Given the description of an element on the screen output the (x, y) to click on. 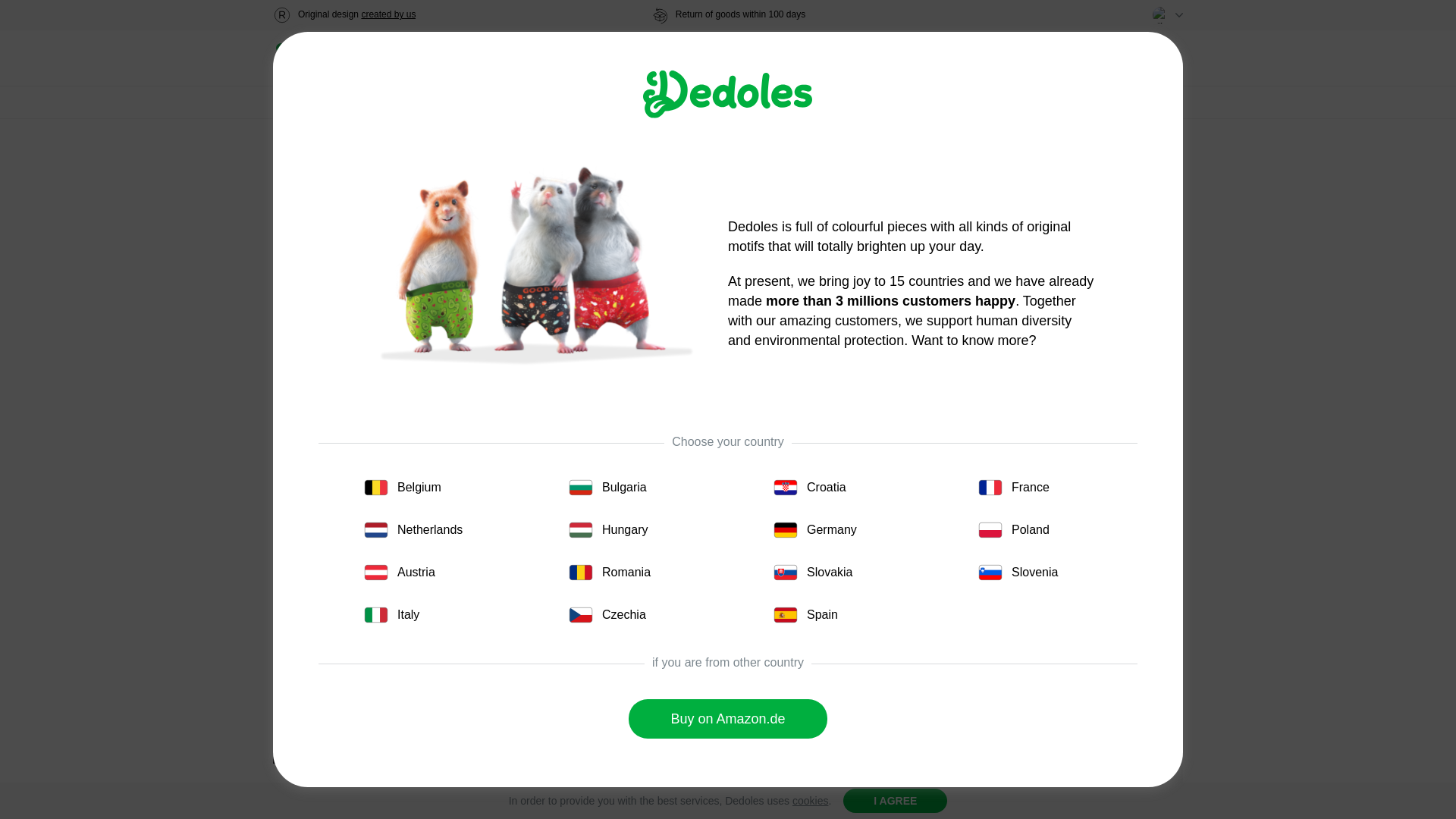
Women (450, 58)
www.dedoles.fi (332, 58)
Back to homepage (332, 58)
created by us (387, 14)
Return of goods within 100 days (727, 15)
